Given the description of an element on the screen output the (x, y) to click on. 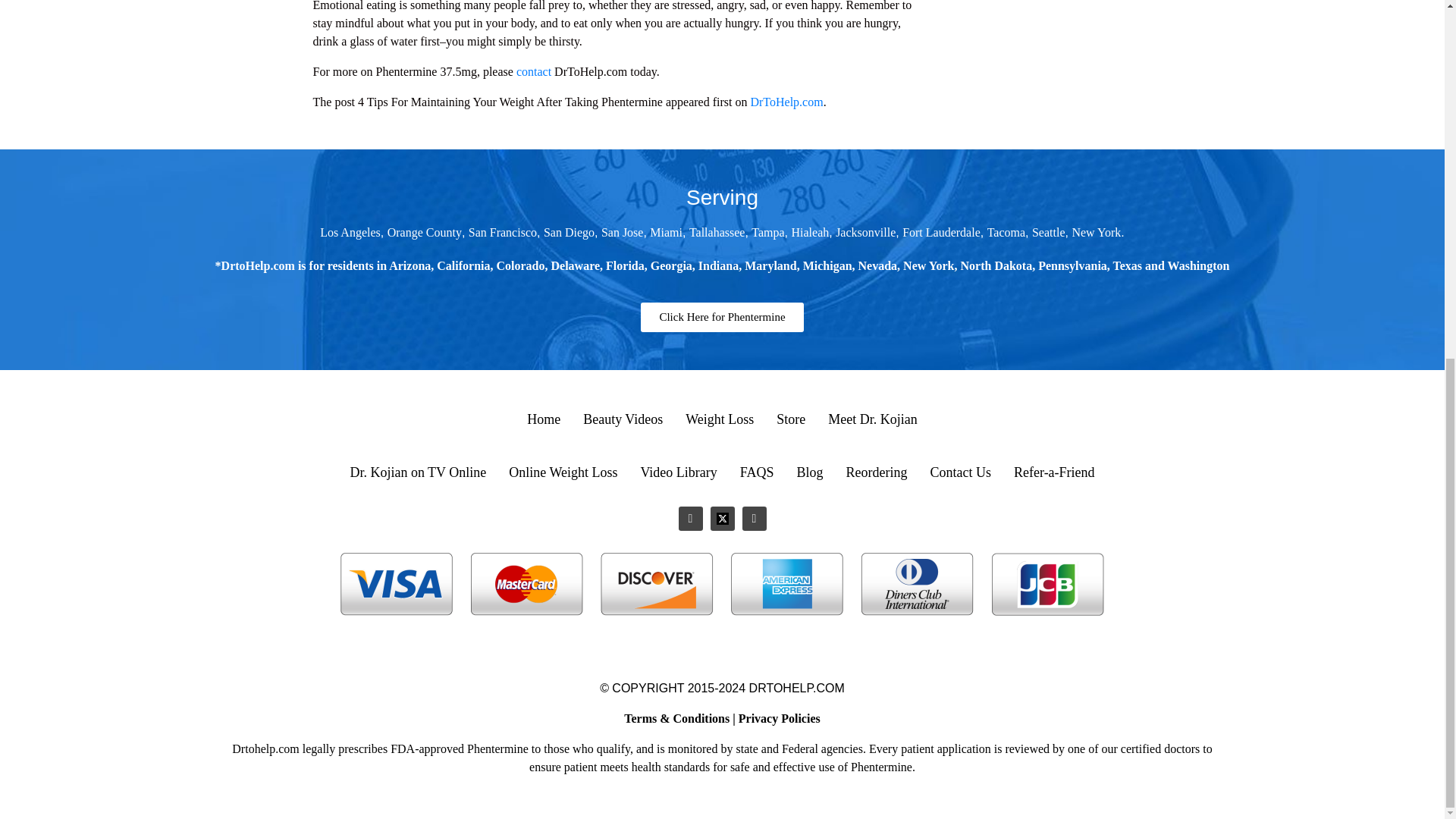
Fort Lauderdale (940, 232)
Jacksonville (865, 232)
Seattle (1048, 232)
San Diego (568, 232)
Fast Weight Loss Solutions for Orange County Residents (424, 232)
Phentermine Weight Loss in San Francisco (502, 232)
Fast Weight Loss in San Diego (568, 232)
Effective Weight Loss Pills Available in San Jose (622, 232)
Weight Loss Programs New York City (1096, 232)
Weight Loss Pills Tacoma Residents (1006, 232)
Fast Hialeah Area Weight Loss (810, 232)
Phentermine Weight Loss in Los Angeles (350, 232)
Orange County (424, 232)
Miami (665, 232)
Hialeah (810, 232)
